Given the description of an element on the screen output the (x, y) to click on. 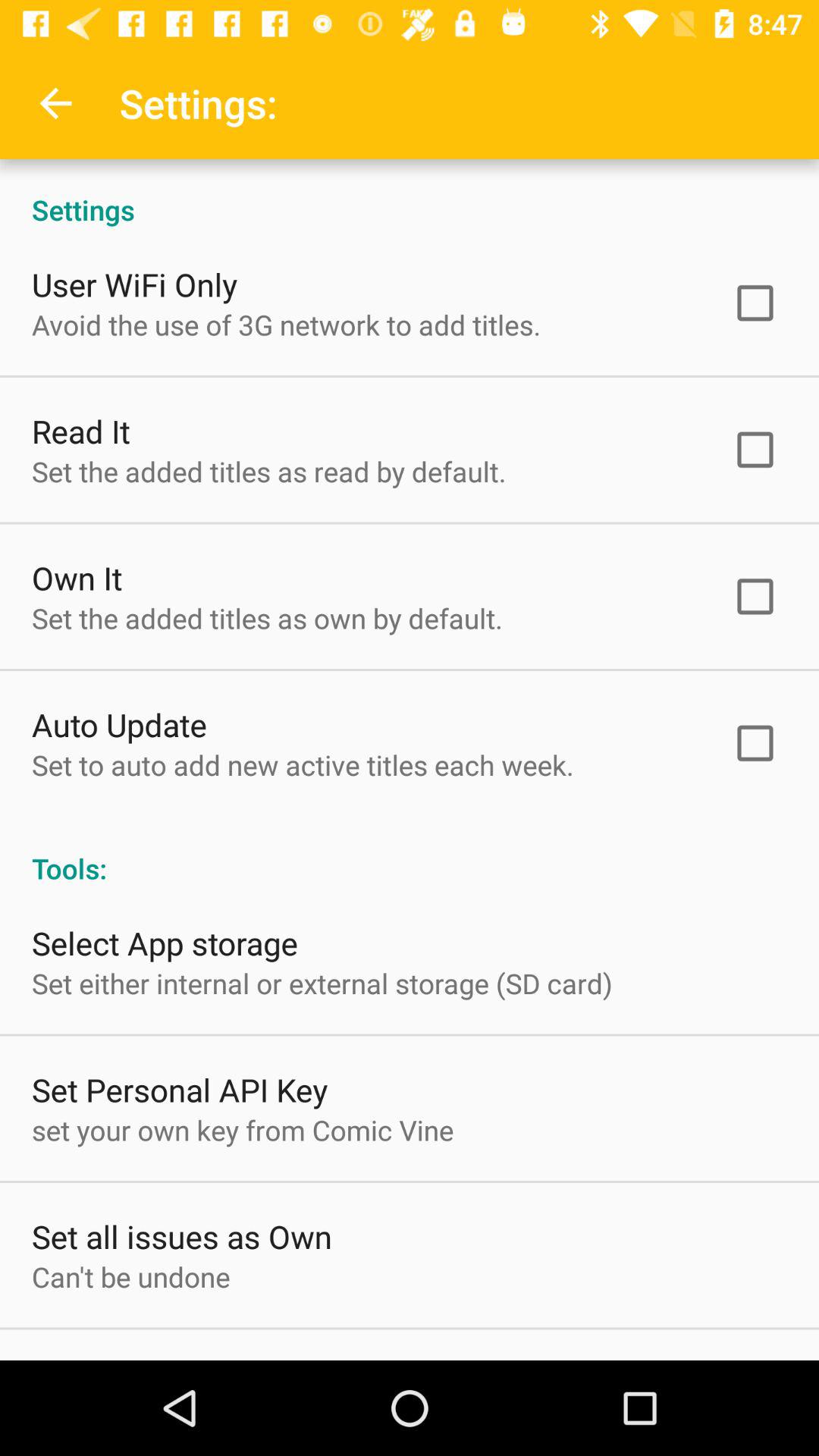
flip to set personal api (179, 1089)
